Given the description of an element on the screen output the (x, y) to click on. 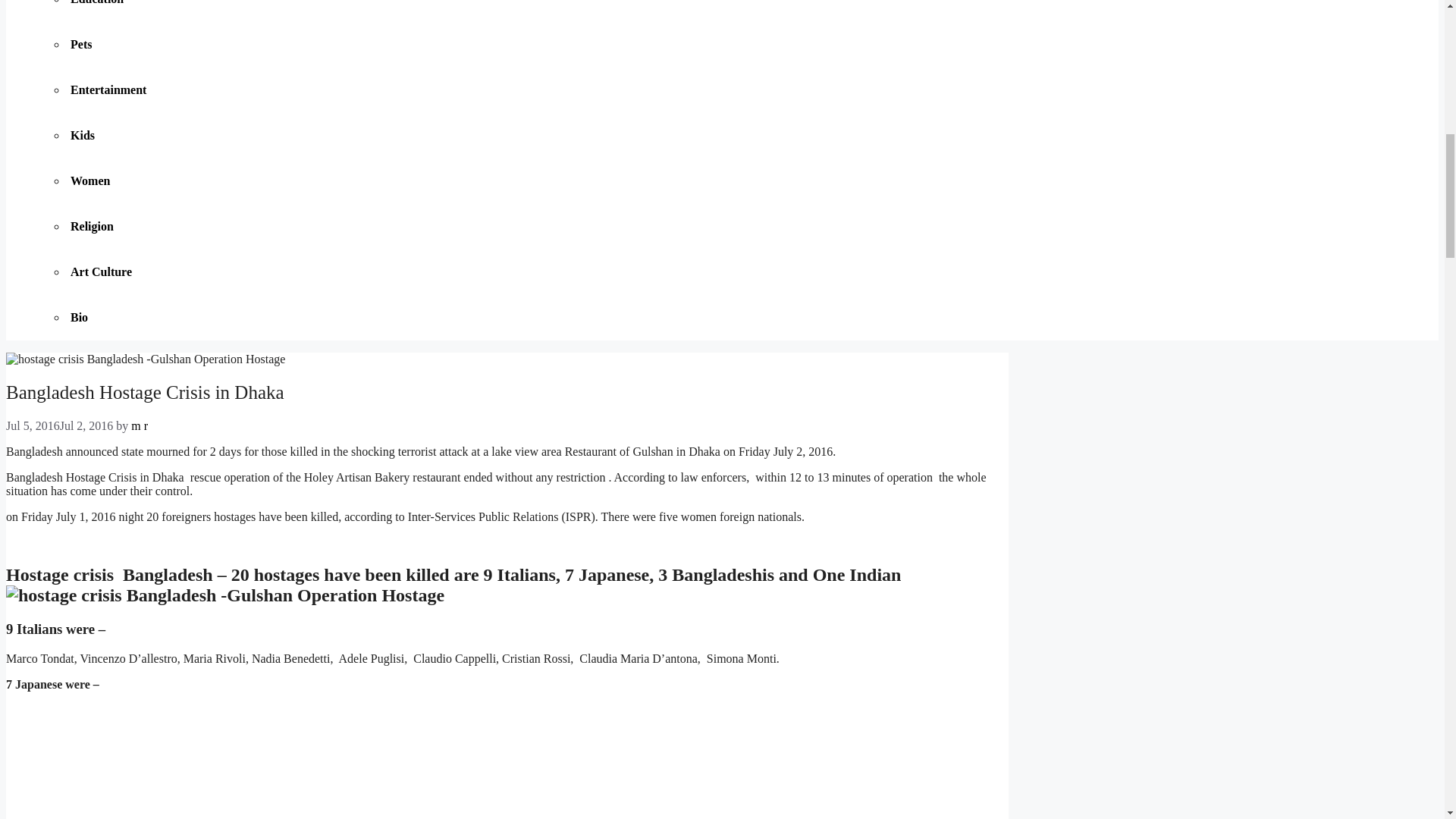
Bio (81, 317)
m r (139, 425)
Art Culture (102, 271)
Women (91, 180)
Kids (83, 134)
Pets (82, 43)
View all posts by m r (139, 425)
Entertainment (110, 89)
Education (98, 2)
Scroll back to top (1406, 720)
Religion (93, 226)
